Given the description of an element on the screen output the (x, y) to click on. 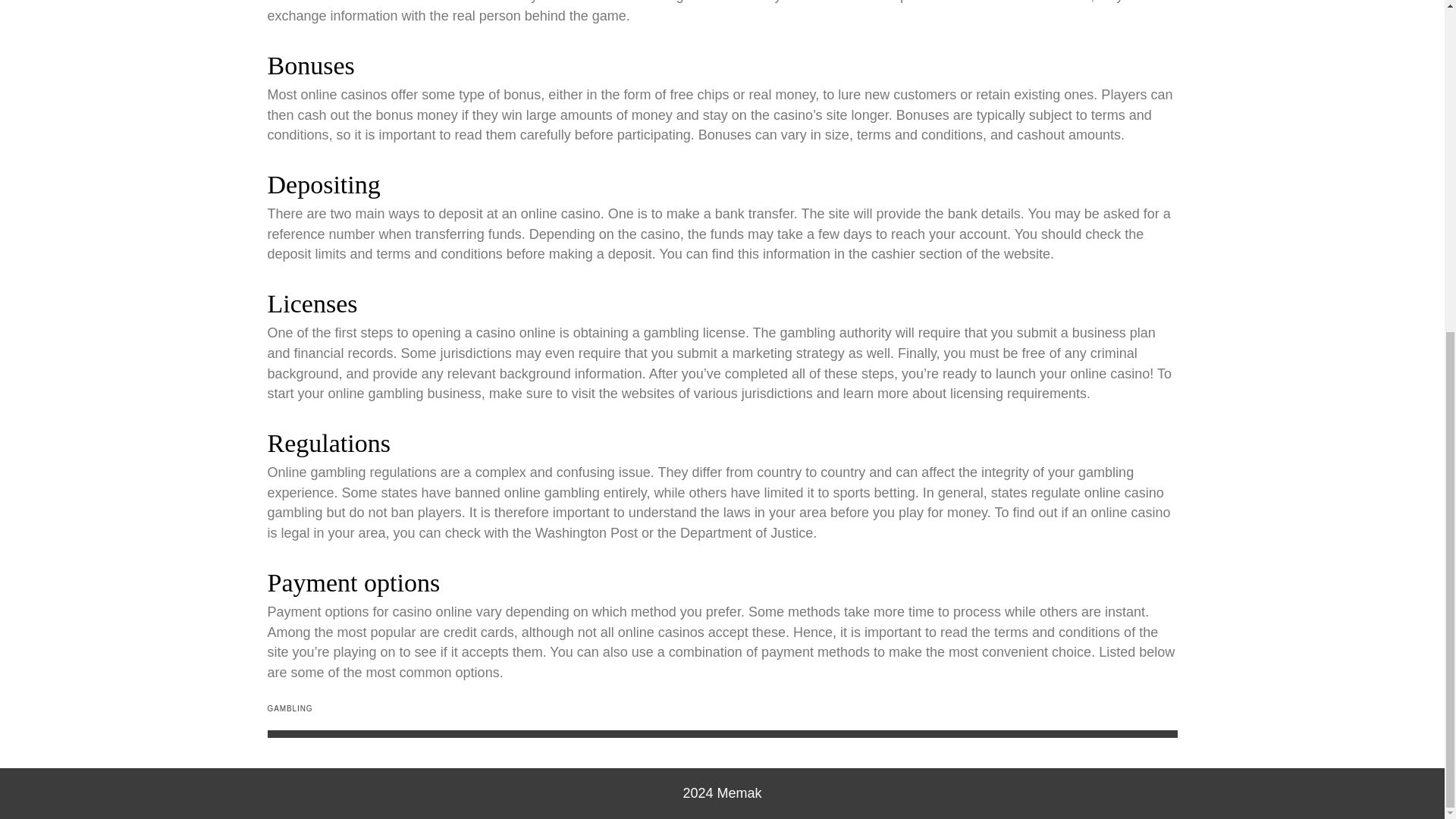
GAMBLING (289, 708)
